Given the description of an element on the screen output the (x, y) to click on. 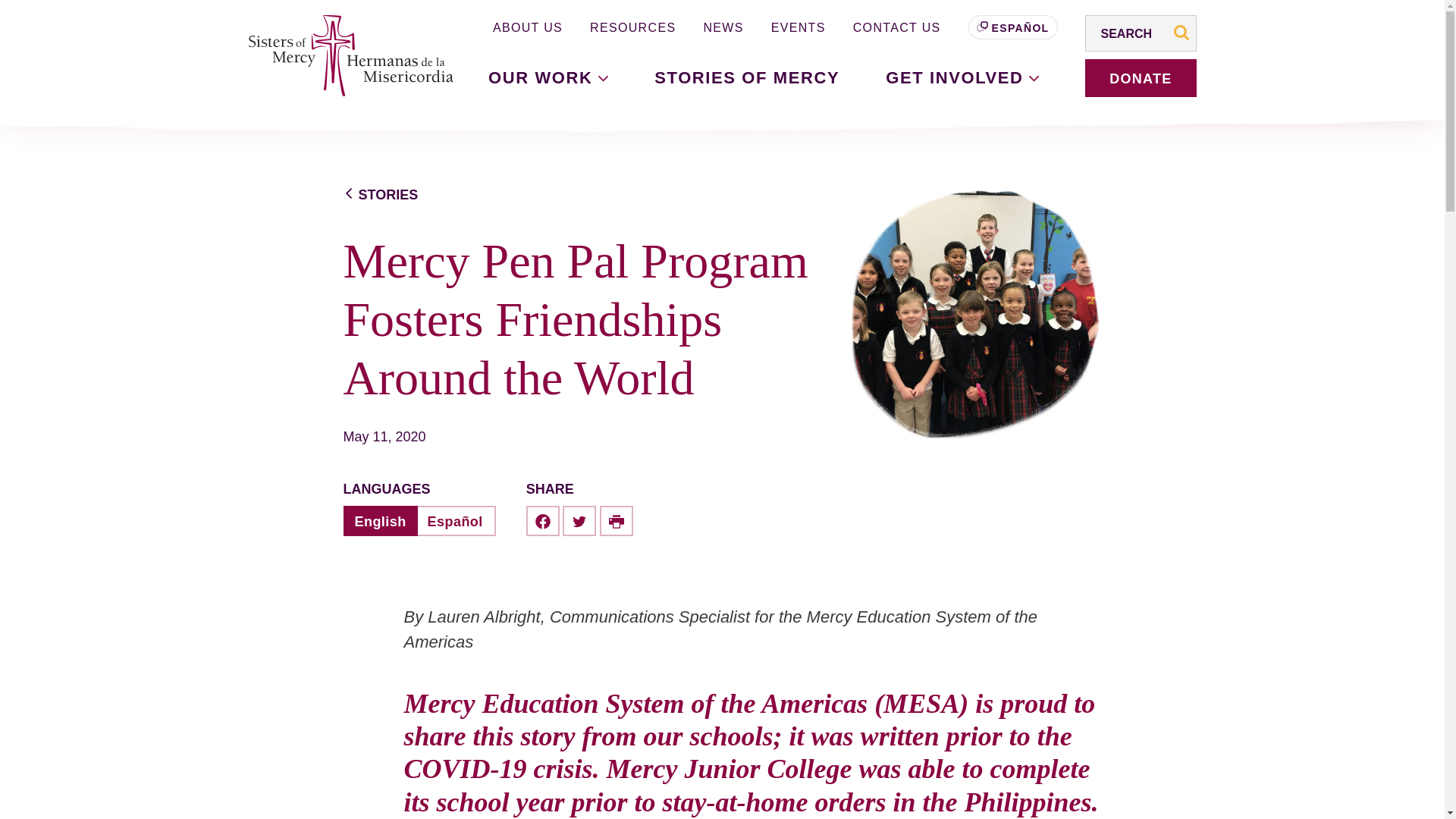
OUR WORK (547, 76)
GET INVOLVED (962, 76)
STORIES OF MERCY (746, 76)
Sisters of Mercy, Hermanas de la Misercordia (343, 56)
